Given the description of an element on the screen output the (x, y) to click on. 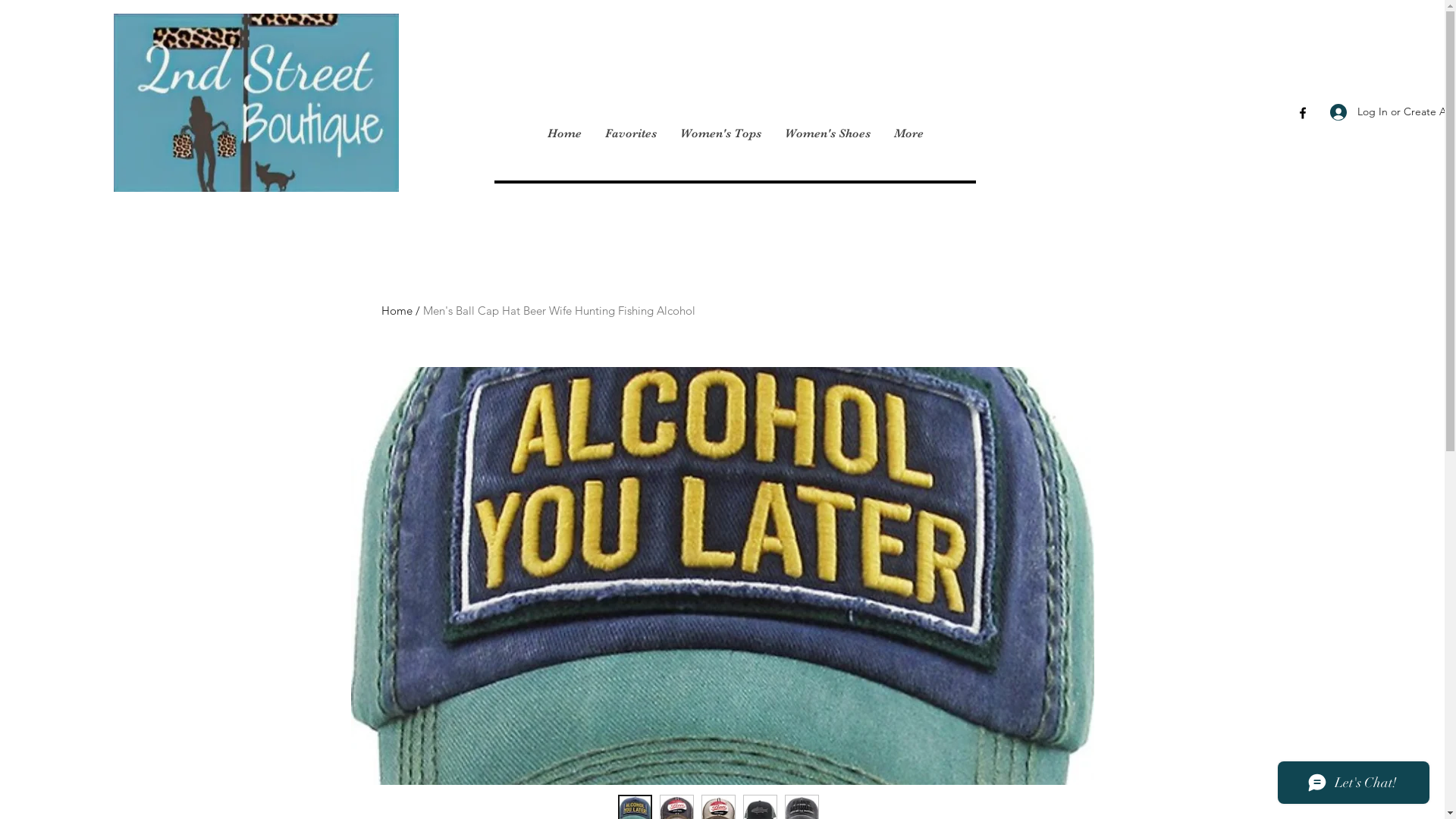
Women's Tops Element type: text (719, 133)
Men's Ball Cap Hat Beer Wife Hunting Fishing Alcohol Element type: text (559, 310)
Women's Shoes Element type: text (826, 133)
Home Element type: text (564, 133)
Favorites Element type: text (630, 133)
Log In or Create Account Element type: text (1353, 111)
Home Element type: text (395, 310)
